Given the description of an element on the screen output the (x, y) to click on. 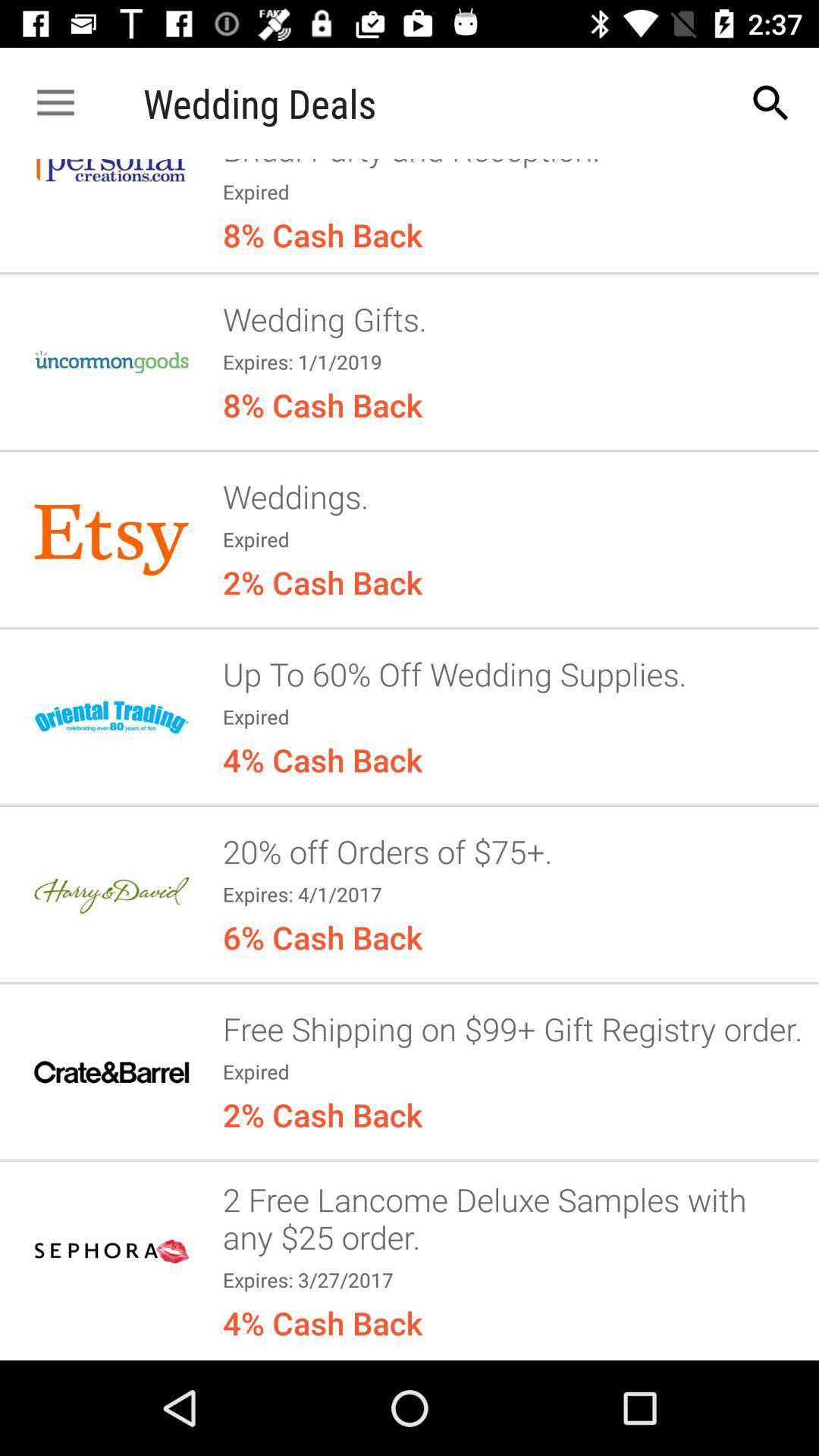
click on top right corner (771, 103)
select the 6th option from the wedding deals from the top (111, 1071)
